Given the description of an element on the screen output the (x, y) to click on. 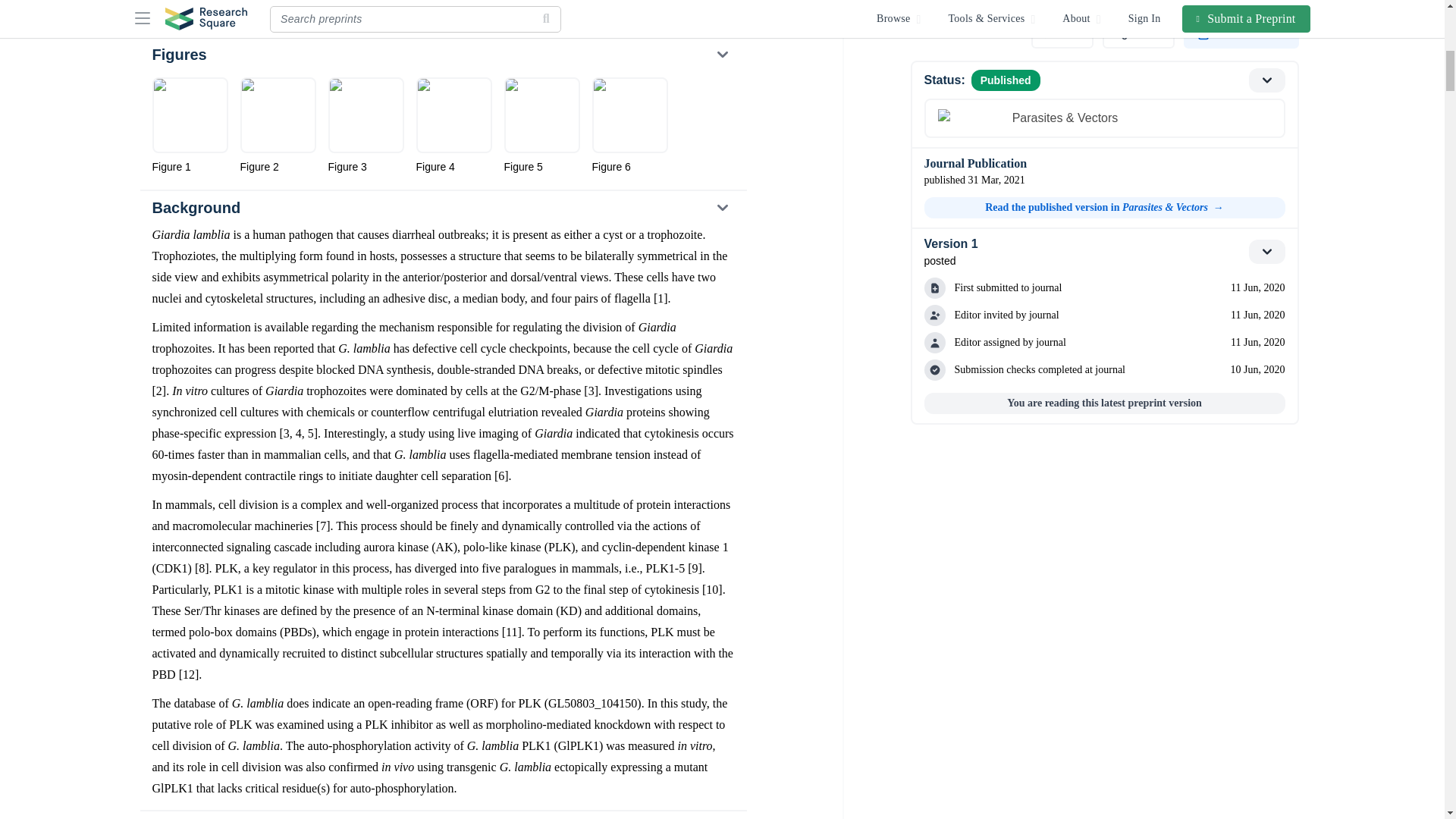
Figures (442, 54)
Background (442, 207)
Parasitology (189, 9)
Methods (442, 815)
